Given the description of an element on the screen output the (x, y) to click on. 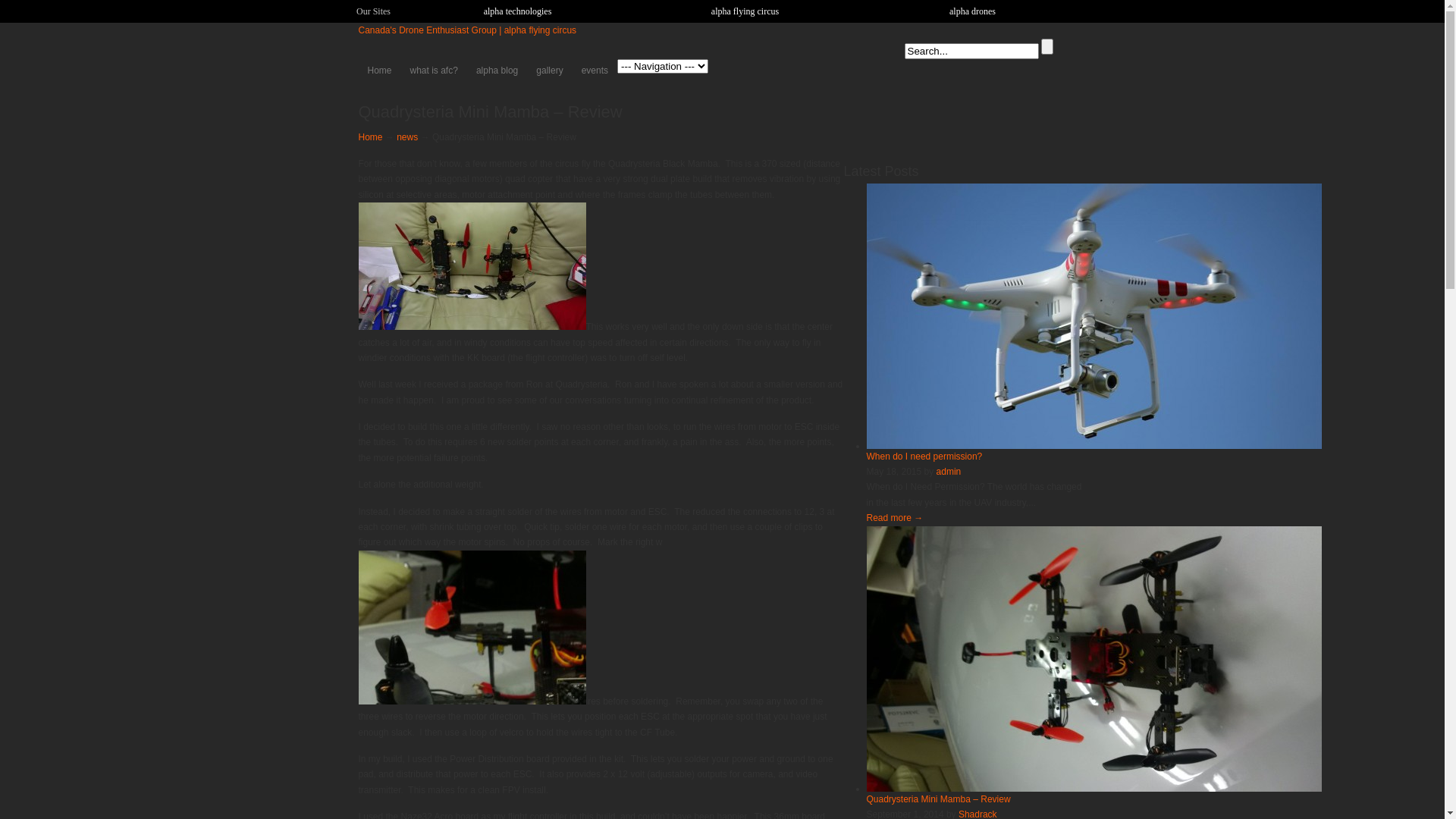
When do I need permission? Element type: hover (1093, 445)
admin Element type: text (948, 471)
alpha blog Element type: text (497, 70)
alpha drones Element type: text (971, 10)
alpha technologies Element type: text (516, 10)
When do I need permission? Element type: text (924, 456)
Canada's Drone Enthusiast Group | alpha flying circus Element type: text (466, 30)
news Element type: text (406, 136)
alpha flying circus Element type: text (744, 10)
Home Element type: text (378, 70)
what is afc? Element type: text (434, 70)
events Element type: text (594, 70)
gallery Element type: text (549, 70)
Home Element type: text (369, 136)
